Given the description of an element on the screen output the (x, y) to click on. 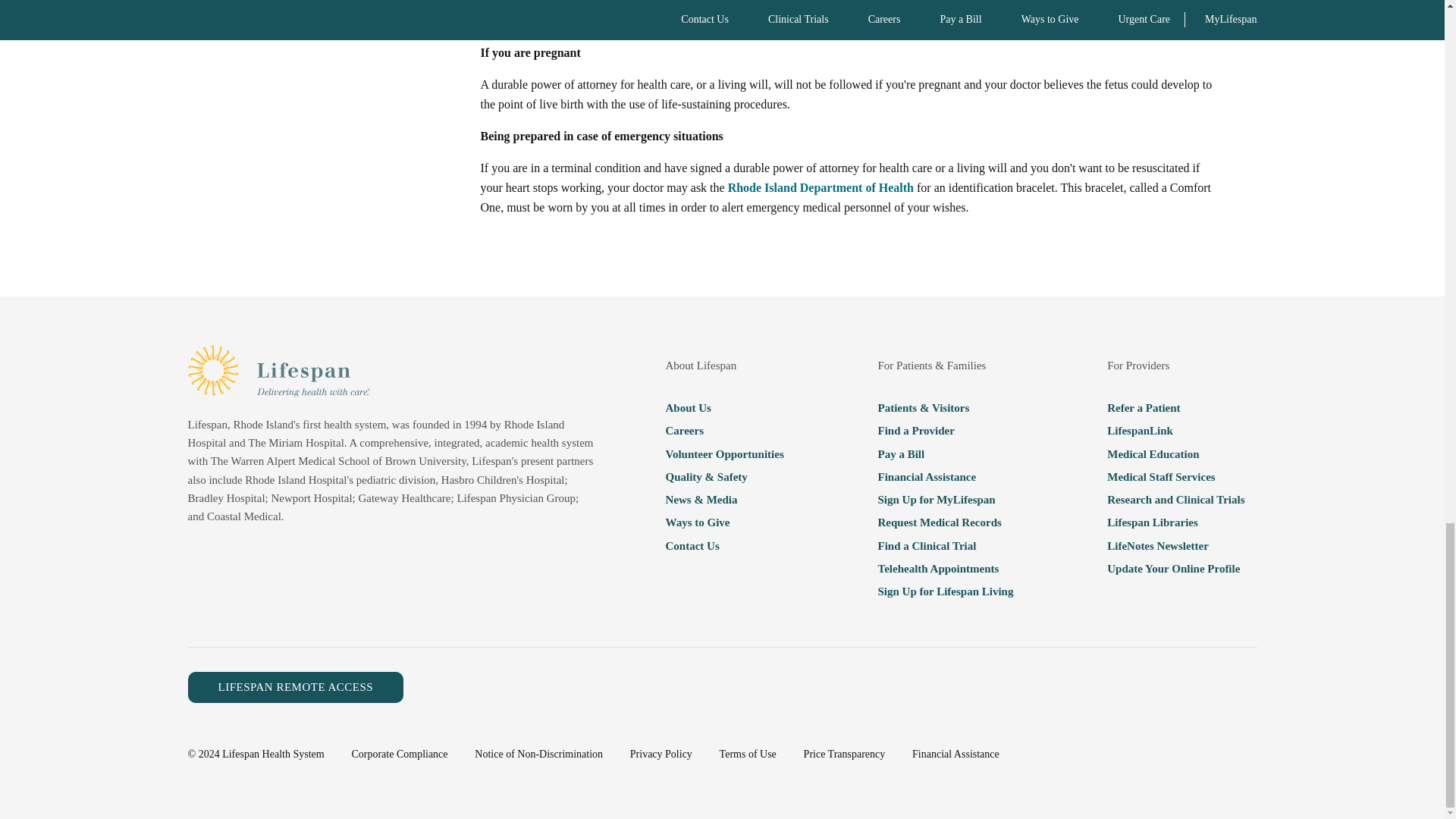
Information about financial assistance (945, 476)
How to refer a patient to a Lifespan service or provider (1175, 407)
How to request medical records (945, 522)
Find a Lifespan provider (945, 430)
How to participate in a telehealth appointment (945, 568)
Pay a bill online (945, 454)
Information about Lifespan Link (1175, 430)
Ways to give to Lifespan hospitals (724, 522)
Find a clinical trial (945, 545)
